Given the description of an element on the screen output the (x, y) to click on. 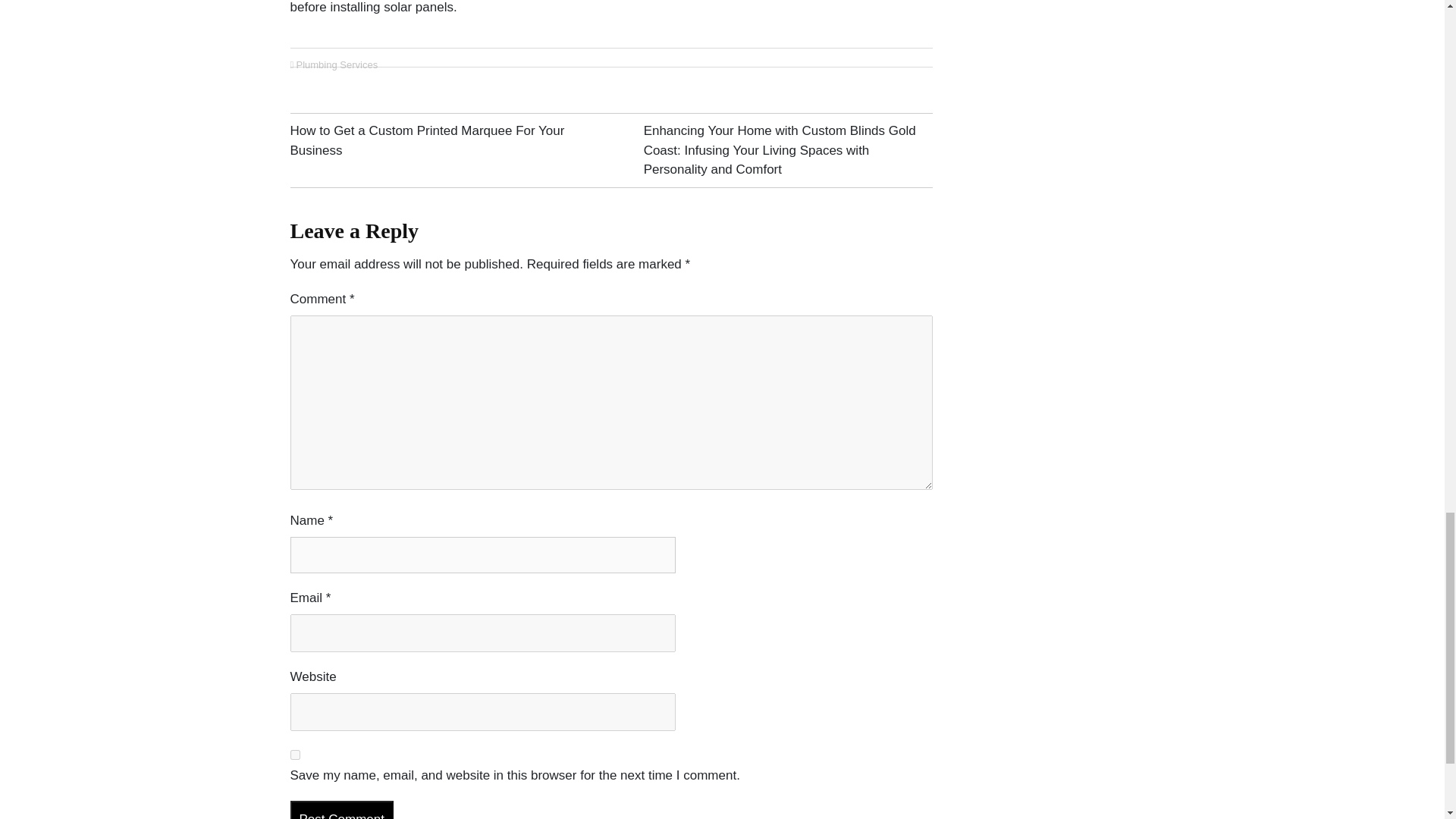
How to Get a Custom Printed Marquee For Your Business (426, 140)
Post Comment (341, 809)
Plumbing Services (336, 64)
yes (294, 755)
Post Comment (341, 809)
